Given the description of an element on the screen output the (x, y) to click on. 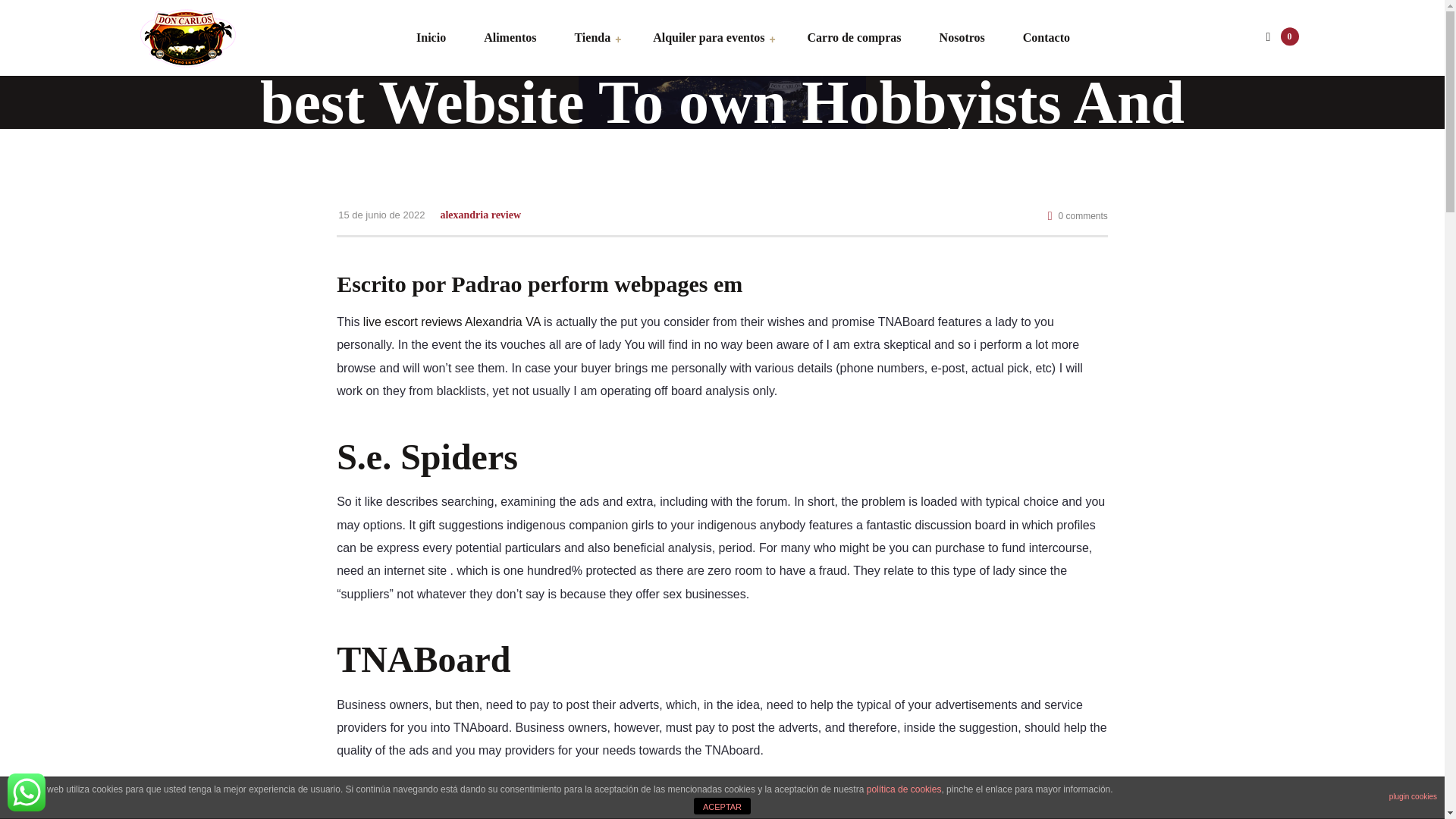
Ver tu carro de compras (1279, 38)
Inicio (430, 37)
Contacto (1037, 37)
live escort reviews Alexandria VA (451, 321)
0 (1279, 38)
Tienda (591, 37)
Alquiler para eventos (708, 37)
Contactenos (26, 792)
Alimentos (509, 37)
Nosotros (962, 37)
Carro de compras (853, 37)
alexandria review (480, 215)
0 comments (1078, 215)
15 de junio de 2022 (380, 214)
